Given the description of an element on the screen output the (x, y) to click on. 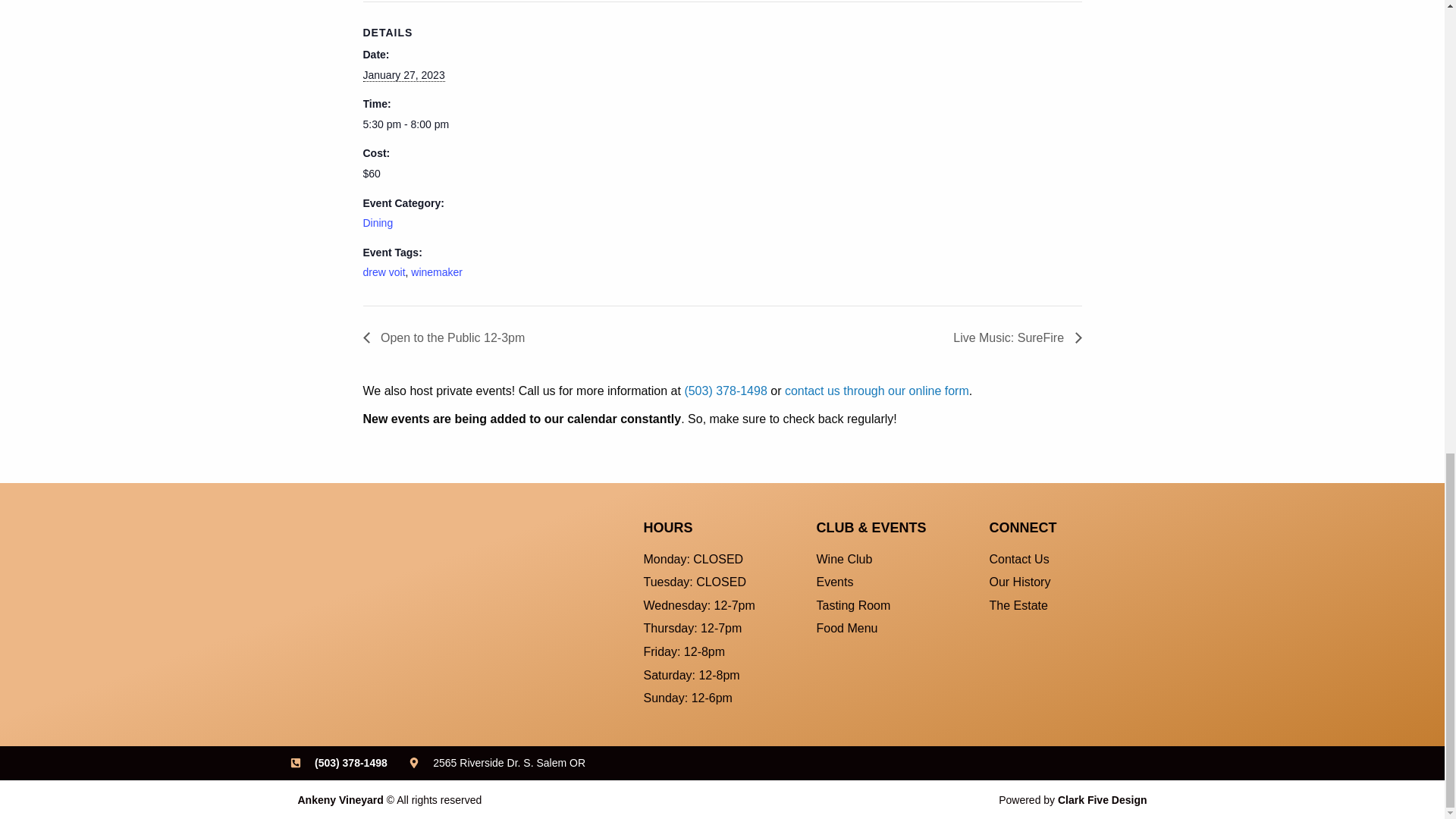
2023-01-27 (403, 74)
2023-01-27 (425, 124)
